Given the description of an element on the screen output the (x, y) to click on. 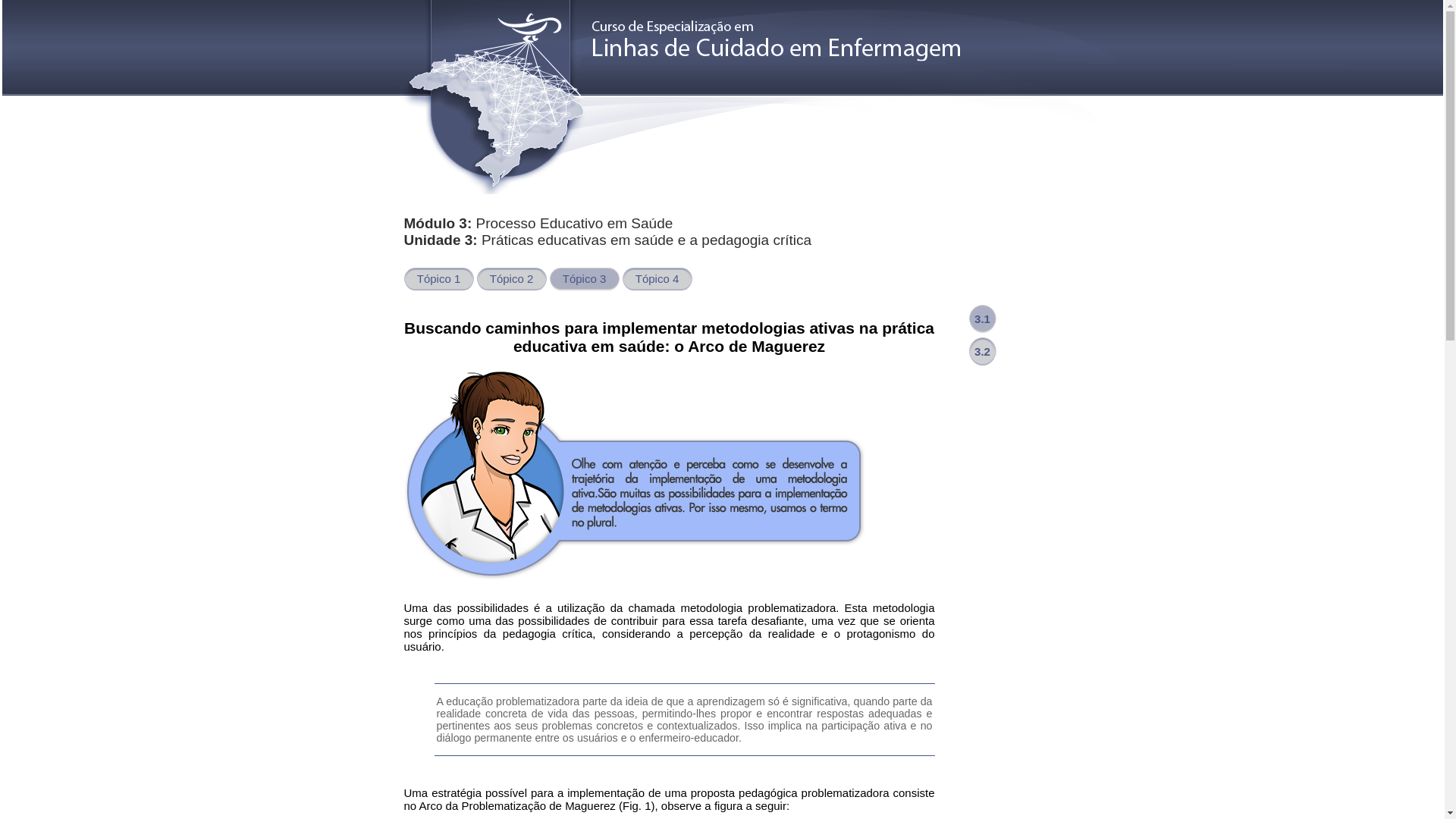
3.1 Element type: text (982, 318)
3.2 Element type: text (982, 351)
